Given the description of an element on the screen output the (x, y) to click on. 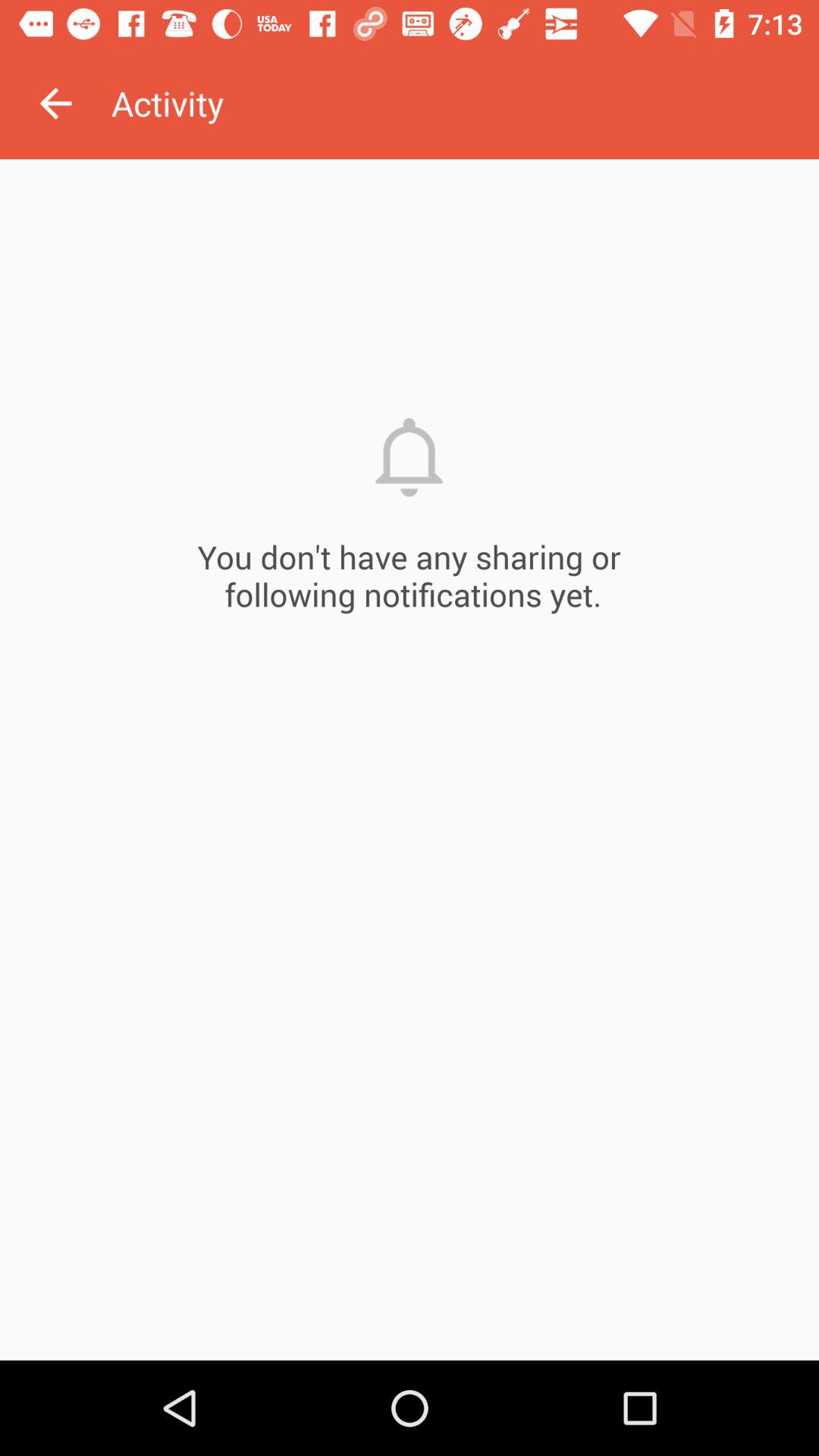
turn on item below activity item (409, 759)
